Given the description of an element on the screen output the (x, y) to click on. 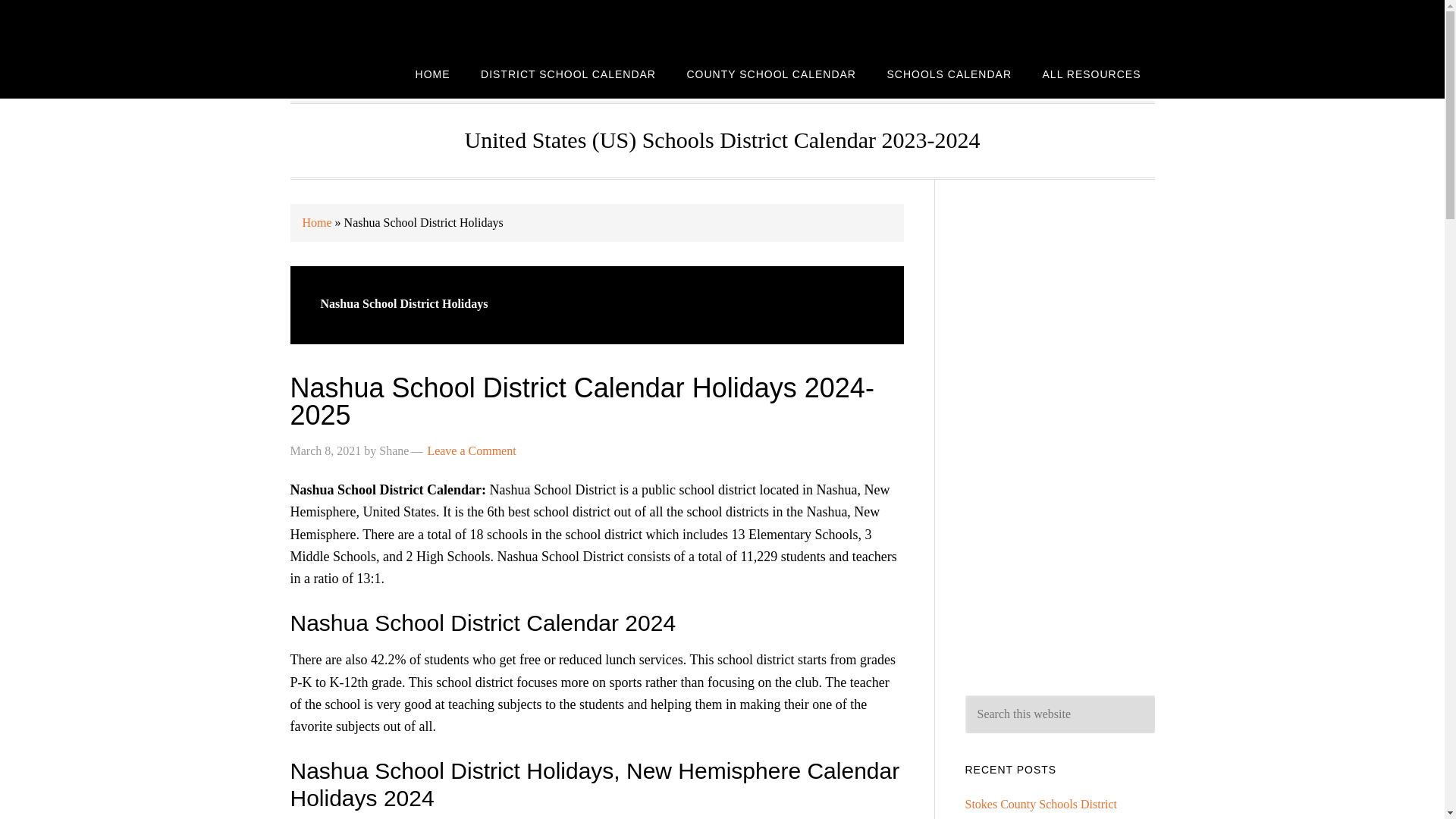
DISTRICT SCHOOL CALENDAR (568, 73)
SCHOOL DISTRICT CALENDAR (410, 24)
HOME (432, 73)
